Given the description of an element on the screen output the (x, y) to click on. 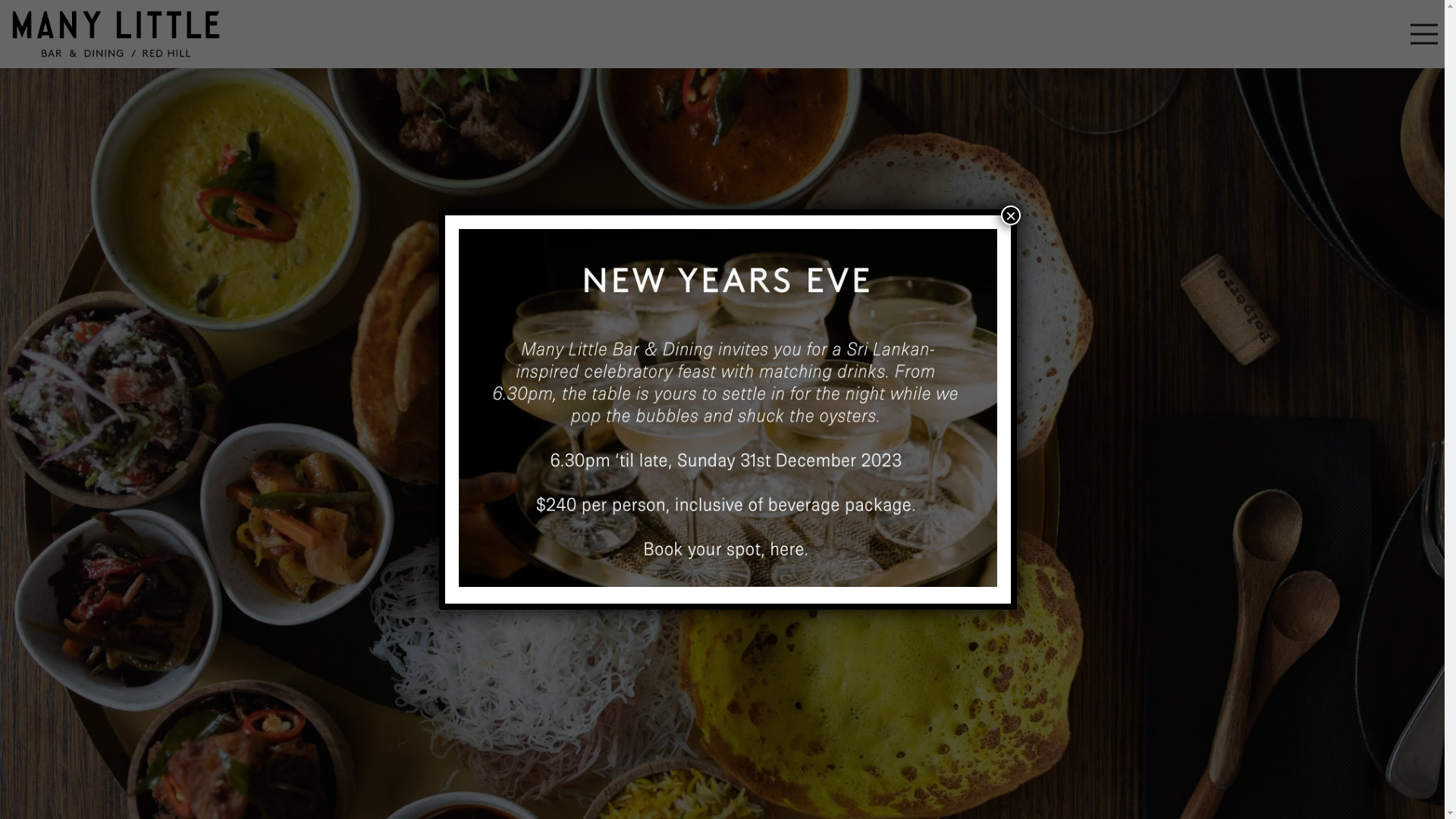
LARDER Element type: text (722, 542)
WINE STORE Element type: text (722, 498)
EVENTS Element type: text (722, 452)
DINING Element type: text (722, 406)
nye popup Element type: hover (727, 407)
BAR Element type: text (722, 360)
